Given the description of an element on the screen output the (x, y) to click on. 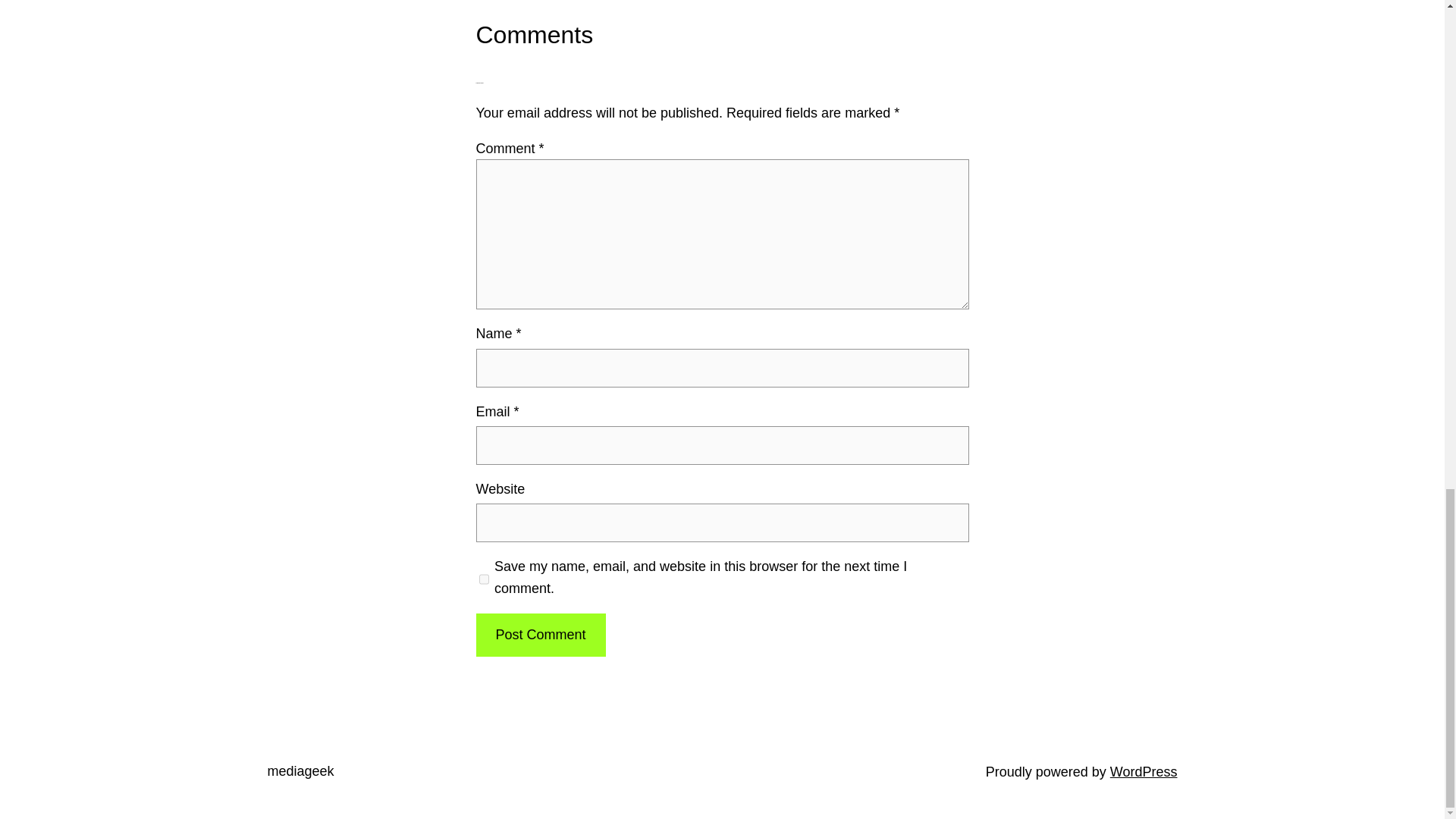
WordPress (1143, 771)
Post Comment (540, 634)
Post Comment (540, 634)
mediageek (299, 770)
